Given the description of an element on the screen output the (x, y) to click on. 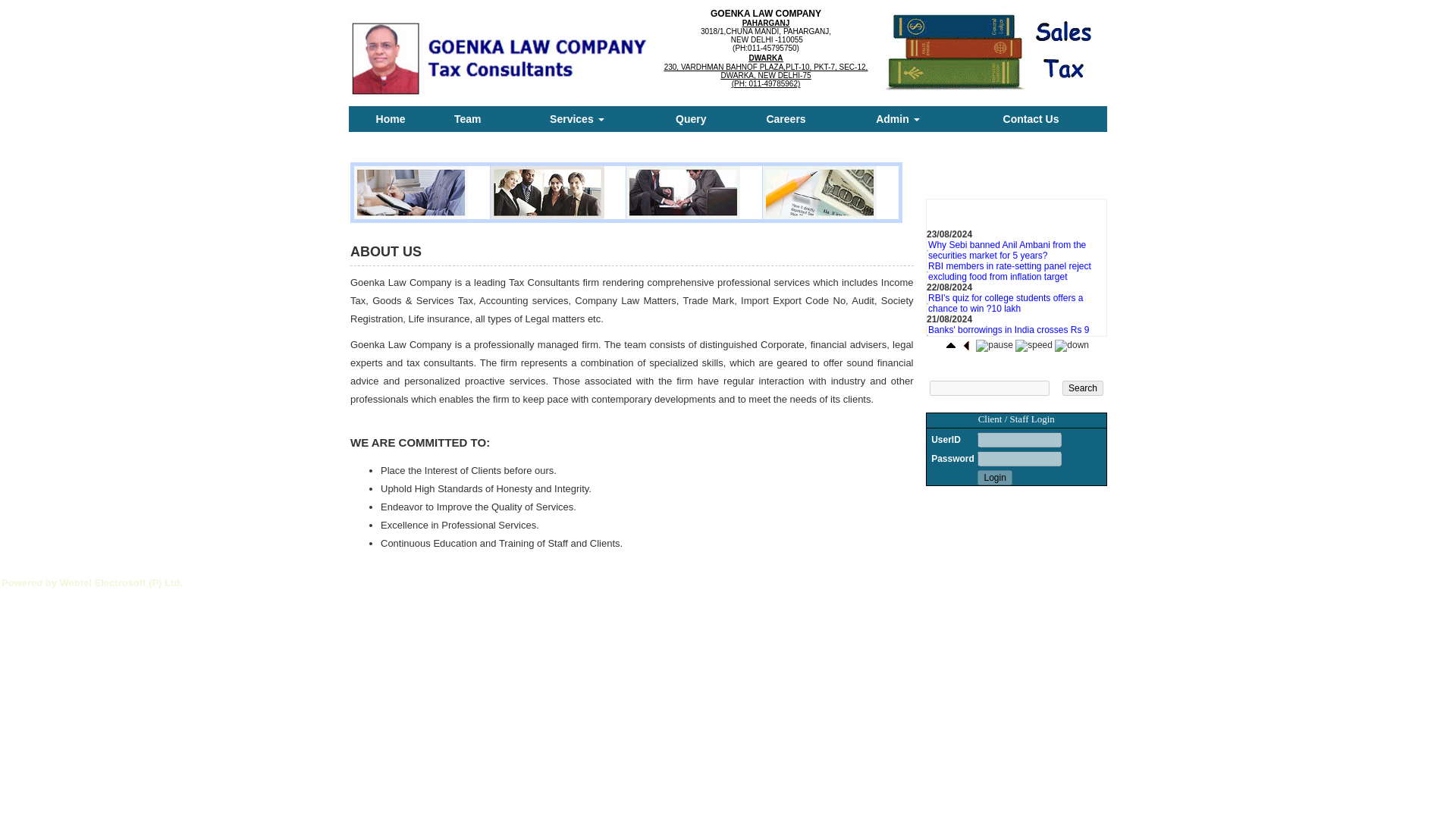
Query (690, 118)
Query (690, 118)
Contact Us (1030, 118)
Home (390, 118)
Careers (785, 118)
Search (1082, 387)
Services  (577, 118)
Careers (785, 118)
